Given the description of an element on the screen output the (x, y) to click on. 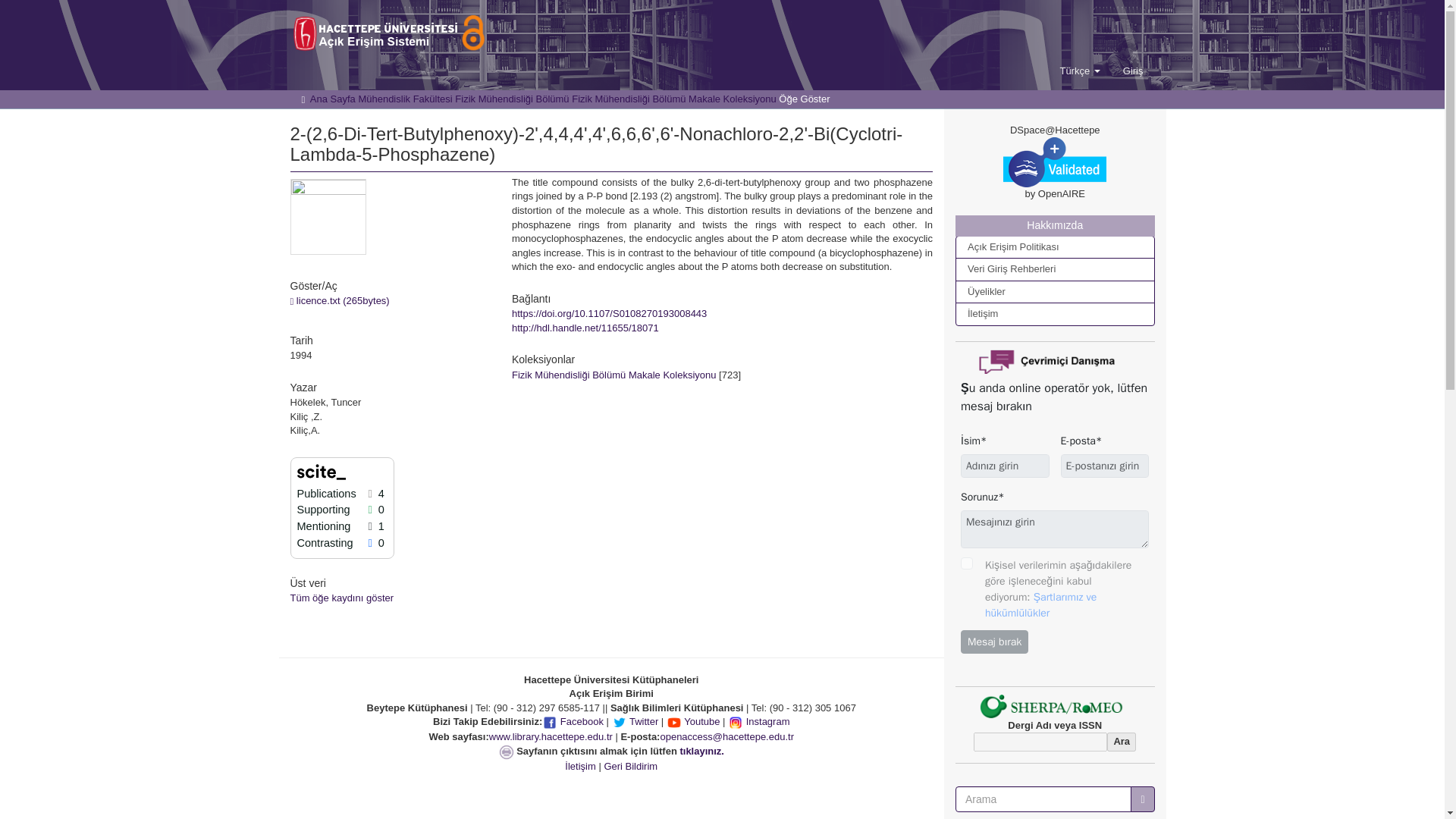
Twitter (635, 722)
Bul (1142, 799)
Facebook (572, 722)
Ara (1120, 741)
Youtube (693, 722)
www.library.hacettepe.edu.tr (550, 736)
Geri Bildirim (631, 766)
Instagram (758, 722)
Ana Sayfa (332, 98)
